Given the description of an element on the screen output the (x, y) to click on. 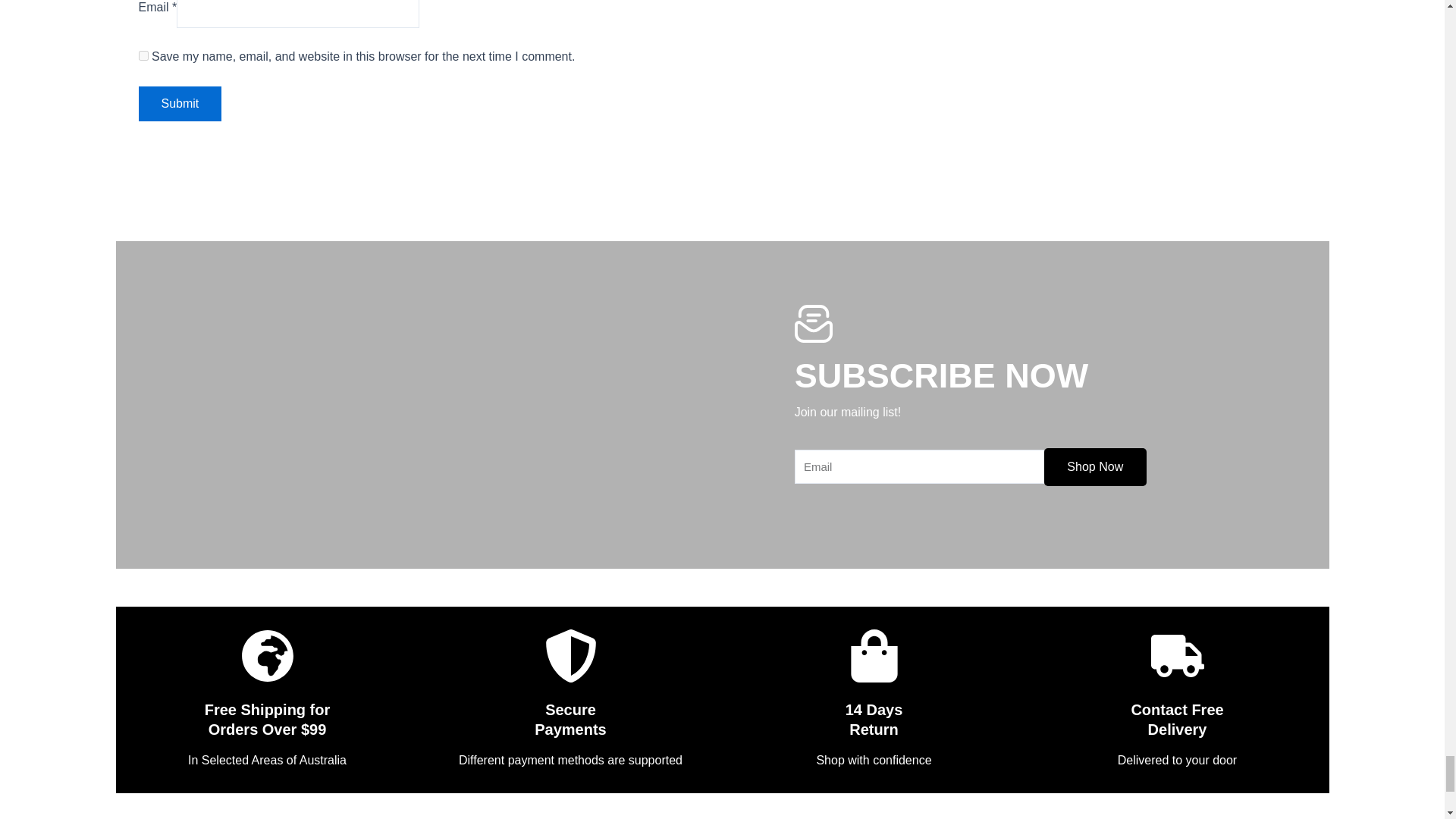
yes (143, 55)
Submit (179, 103)
